Given the description of an element on the screen output the (x, y) to click on. 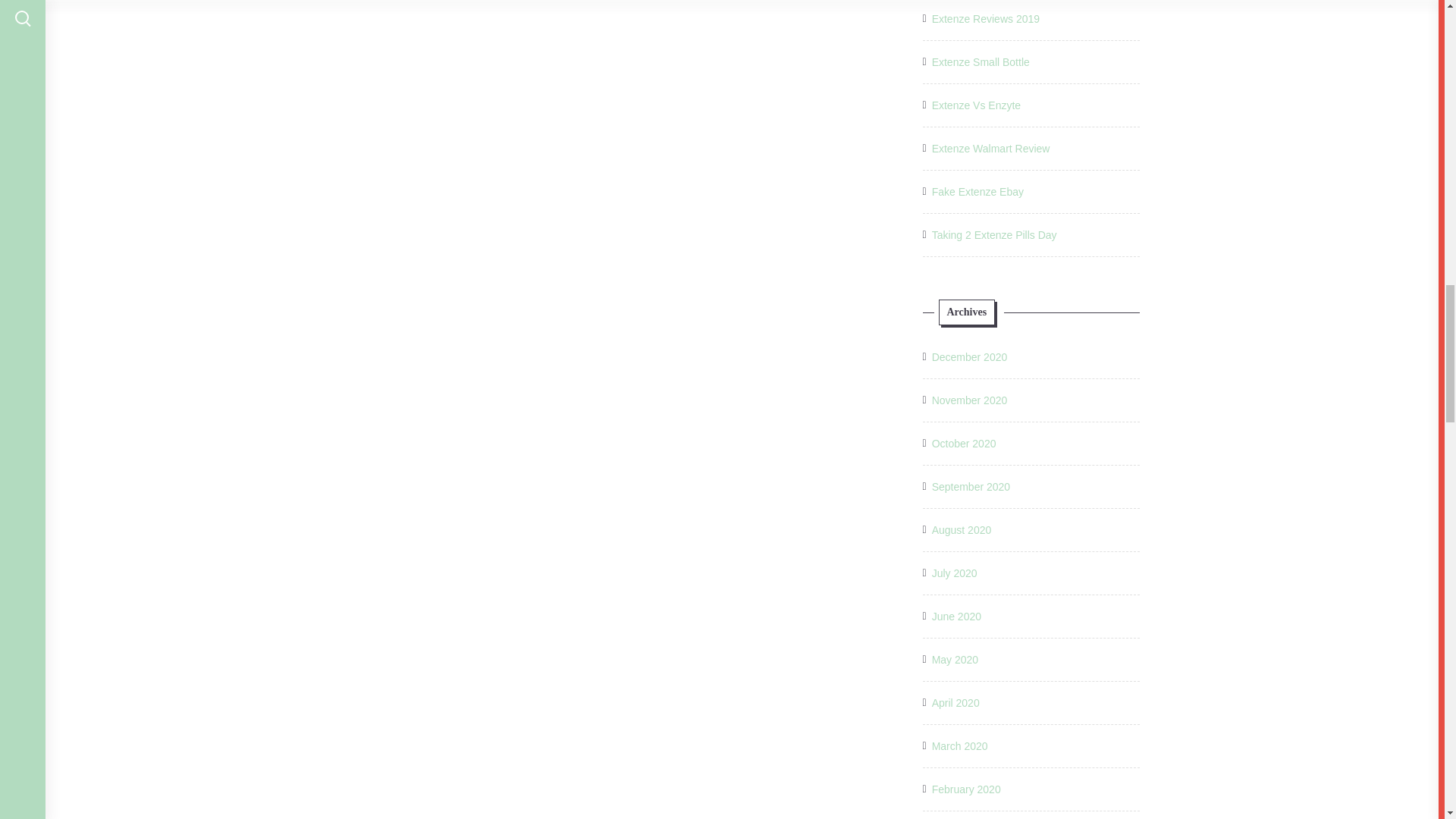
Fake Extenze Ebay (977, 191)
Extenze Small Bottle (980, 61)
Taking 2 Extenze Pills Day (994, 234)
Extenze Vs Enzyte (976, 105)
Extenze Walmart Review (990, 148)
Extenze Reviews 2019 (985, 18)
